Given the description of an element on the screen output the (x, y) to click on. 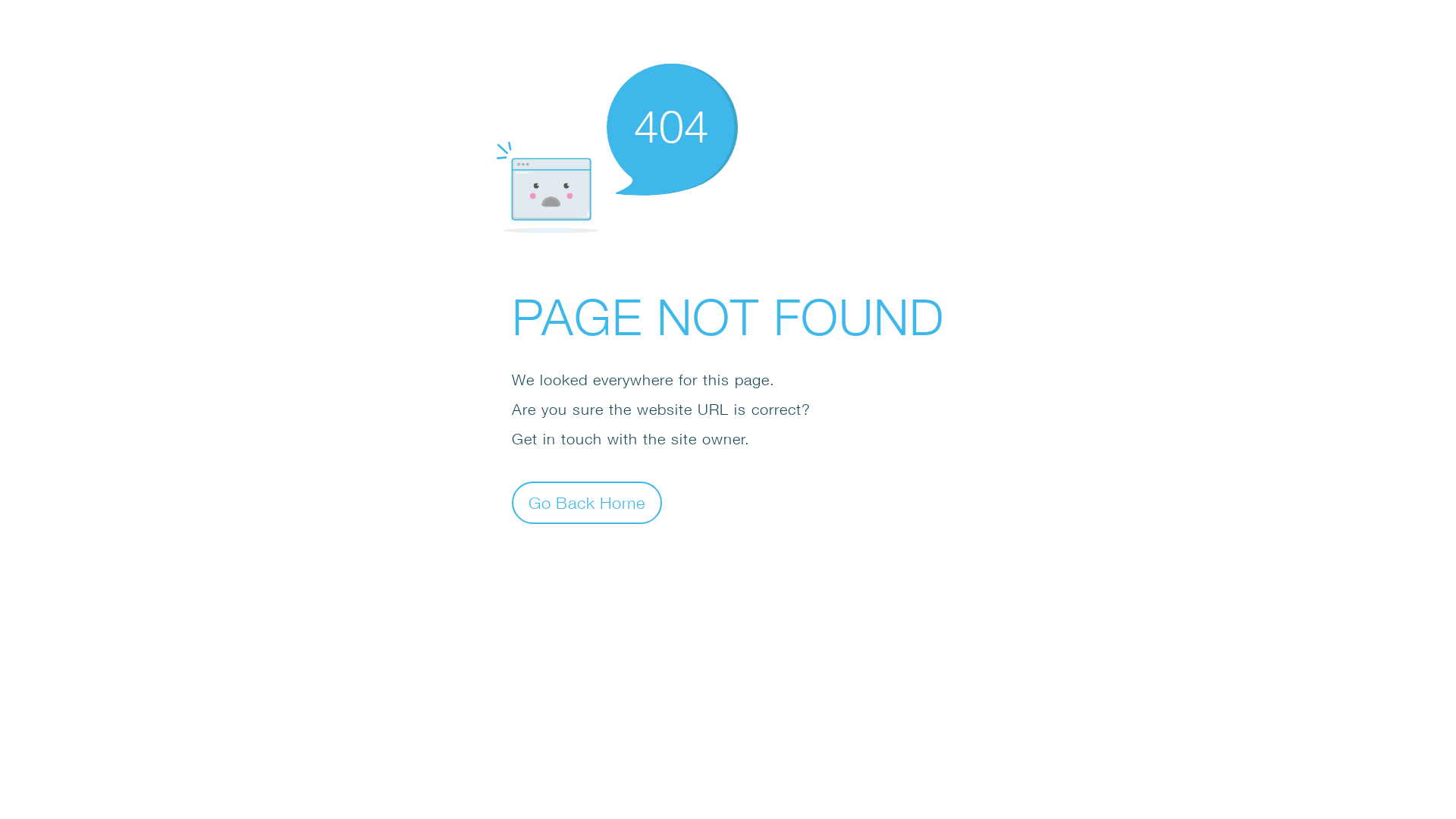
Go Back Home Element type: text (586, 502)
